Given the description of an element on the screen output the (x, y) to click on. 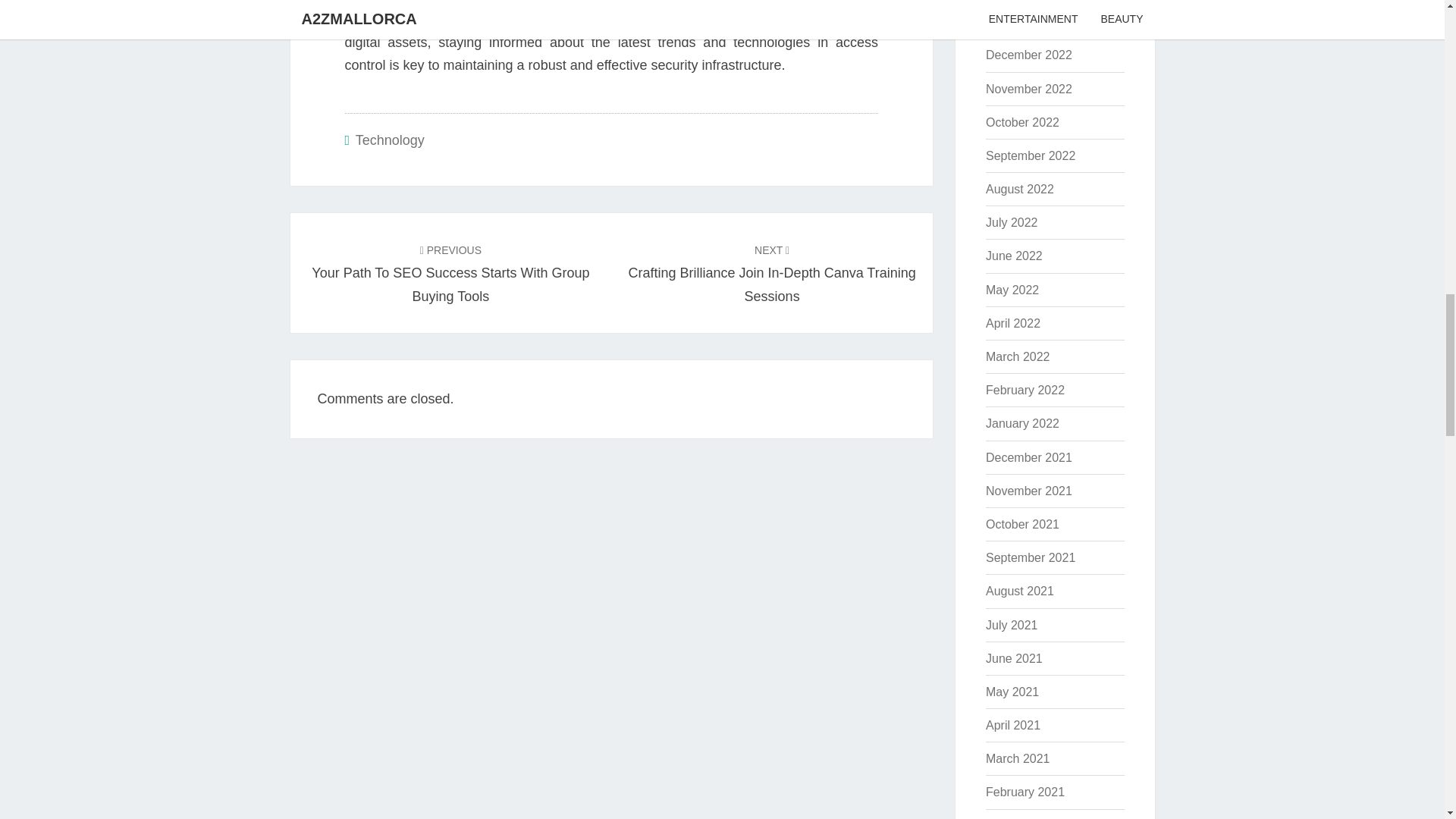
December 2022 (1028, 54)
October 2022 (1022, 122)
July 2022 (1011, 222)
Technology (390, 140)
November 2022 (1028, 88)
January 2023 (1022, 21)
June 2022 (1013, 255)
September 2022 (1030, 155)
May 2022 (1012, 289)
